Given the description of an element on the screen output the (x, y) to click on. 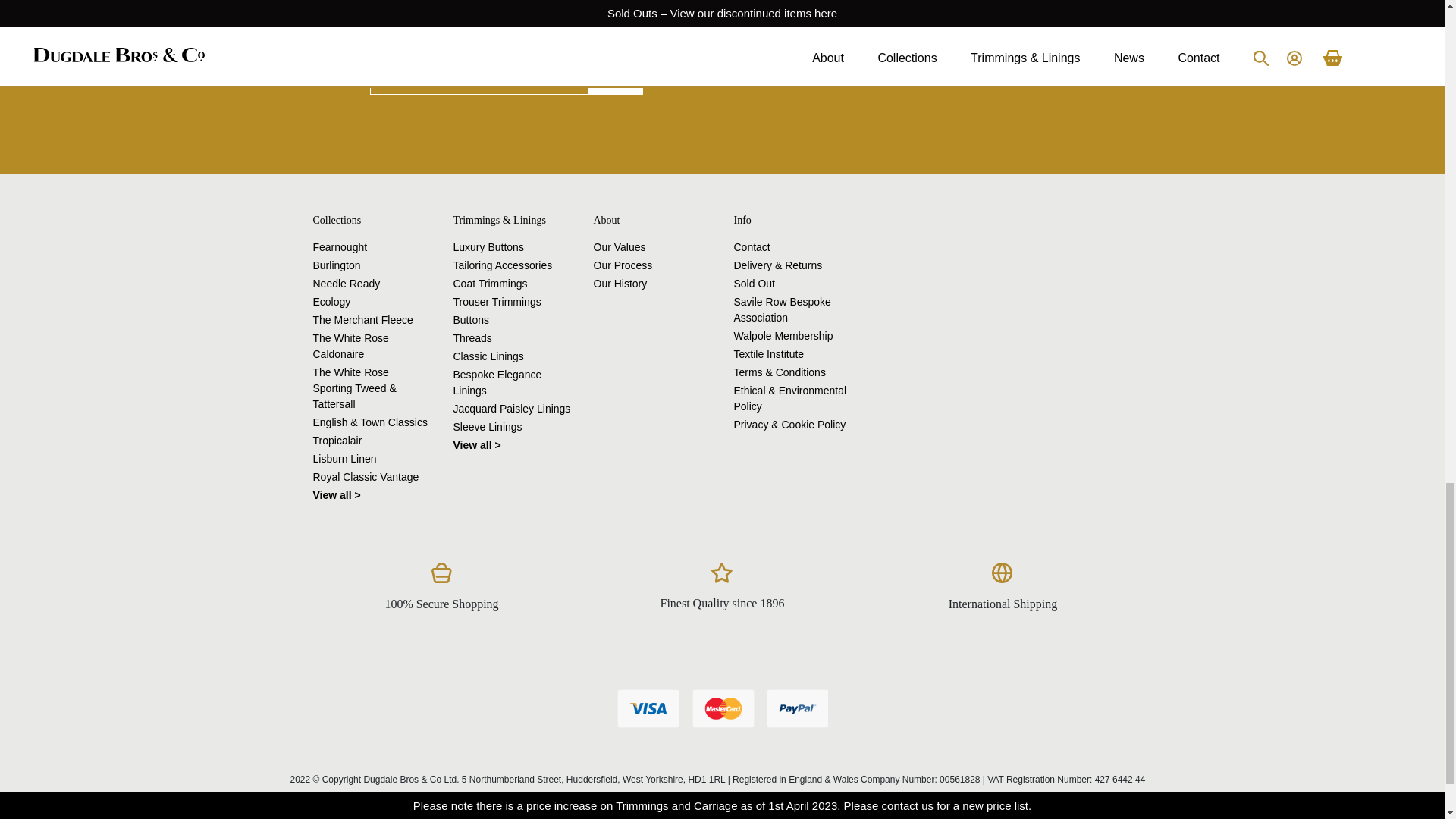
Submit (615, 75)
Twitter (921, 66)
Instagram (953, 66)
